Given the description of an element on the screen output the (x, y) to click on. 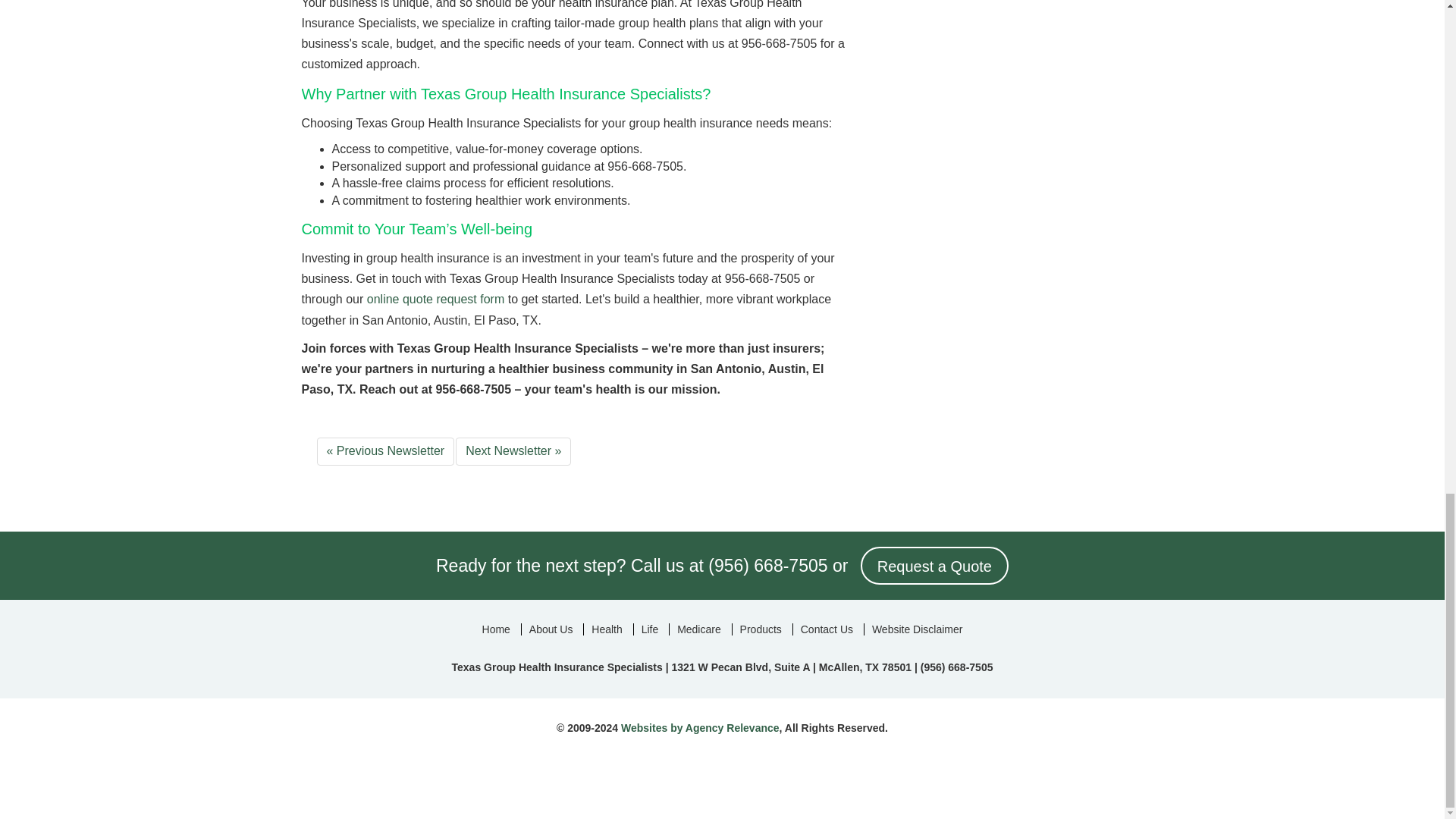
Request a Quote (934, 565)
Home (496, 629)
online quote request form (434, 298)
